Given the description of an element on the screen output the (x, y) to click on. 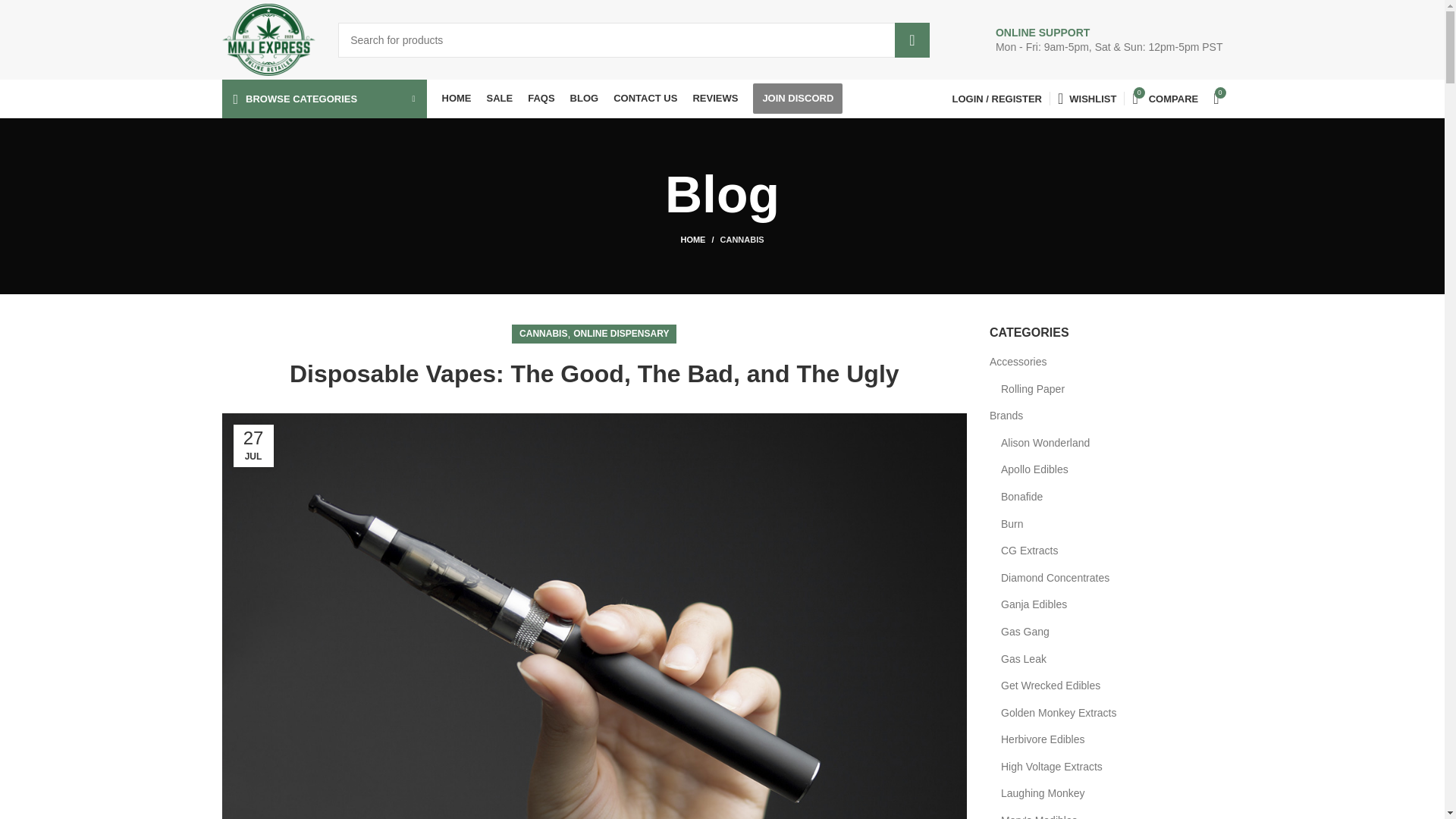
Compare products (1164, 98)
My account (996, 98)
My Wishlist (1086, 98)
Search for products (633, 39)
